Given the description of an element on the screen output the (x, y) to click on. 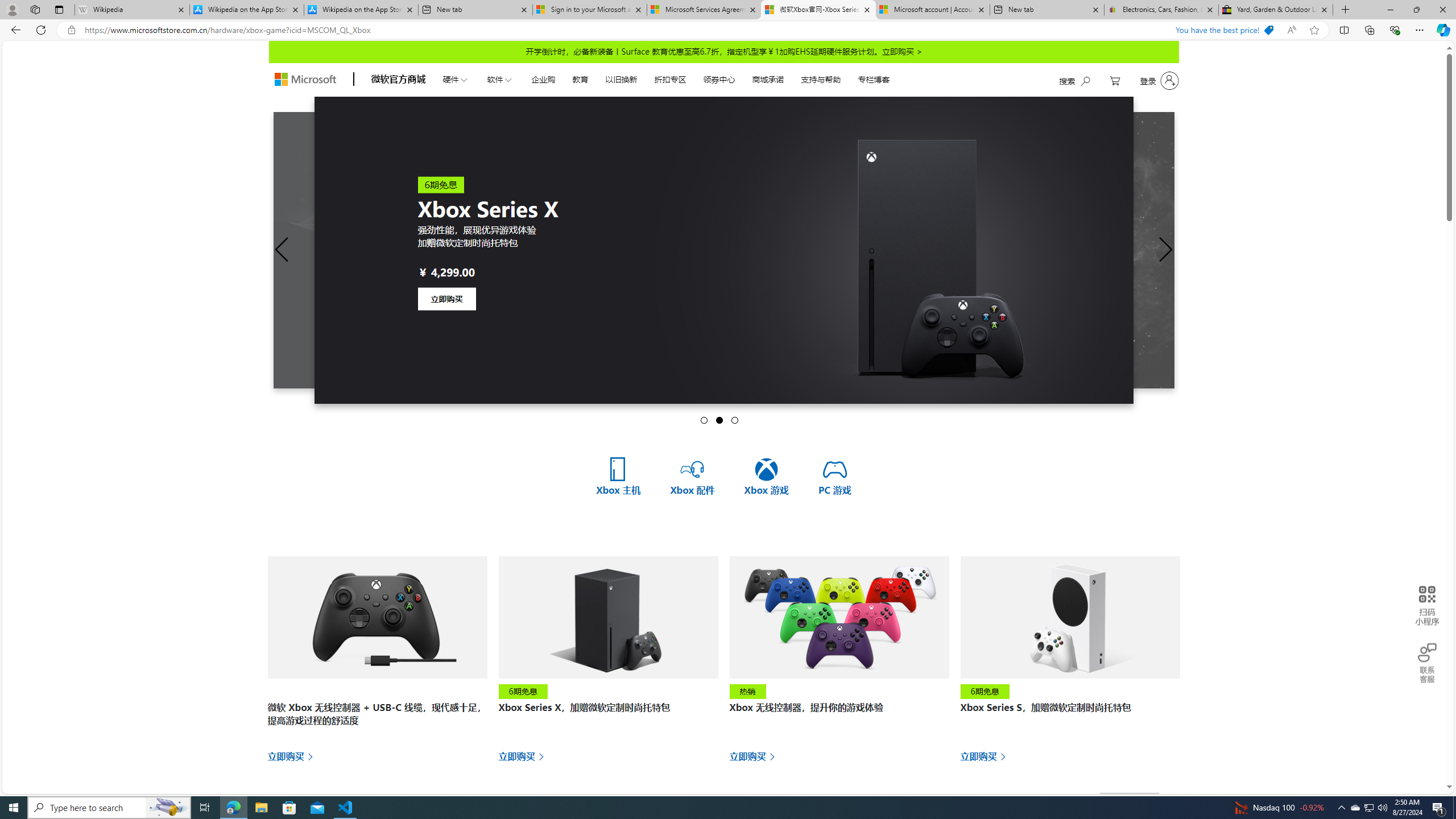
Select (1128, 800)
Xbox Series X (969, 249)
Sign in to your Microsoft account (589, 9)
Next slide (1165, 249)
